Given the description of an element on the screen output the (x, y) to click on. 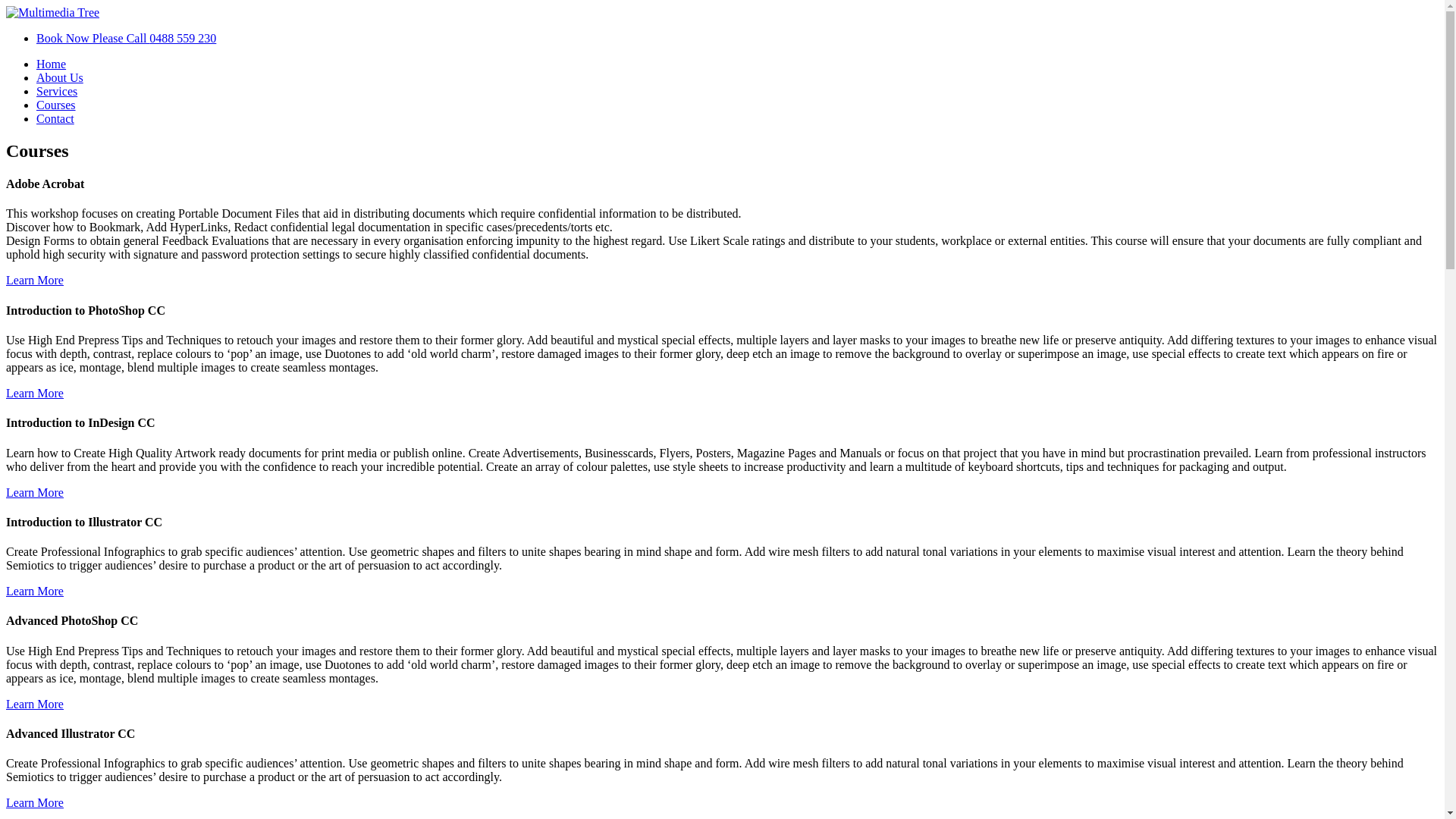
Contact Element type: text (55, 118)
Learn More Element type: text (34, 491)
Learn More Element type: text (34, 279)
Learn More Element type: text (34, 392)
About Us Element type: text (59, 77)
Home Element type: text (50, 63)
Courses Element type: text (55, 104)
Learn More Element type: text (34, 703)
Services Element type: text (56, 90)
Multimedia Tree Element type: hover (52, 12)
Book Now Please Call 0488 559 230 Element type: text (126, 37)
Learn More Element type: text (34, 590)
Learn More Element type: text (34, 802)
